Given the description of an element on the screen output the (x, y) to click on. 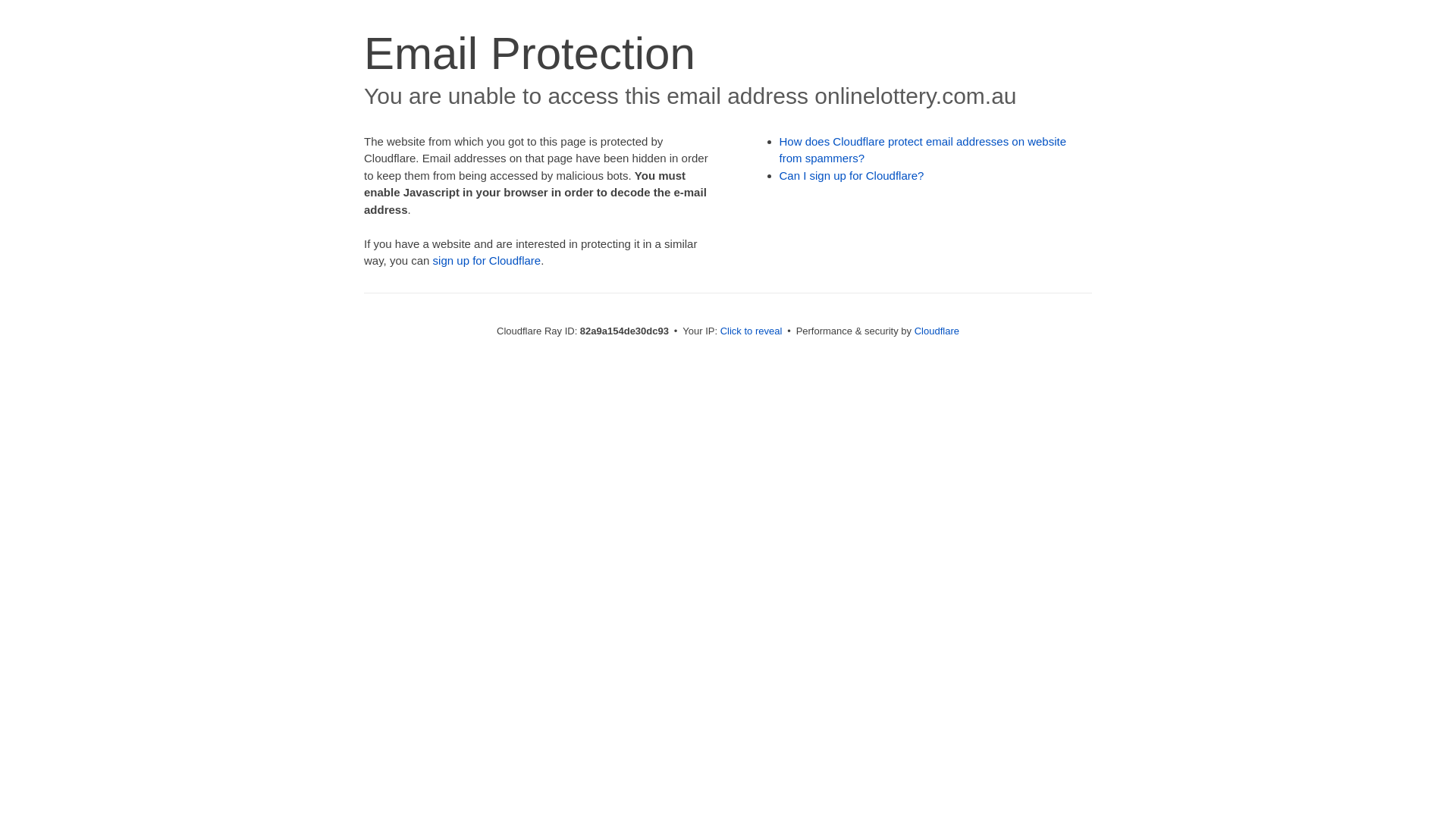
Can I sign up for Cloudflare? Element type: text (851, 175)
Cloudflare Element type: text (936, 330)
Click to reveal Element type: text (751, 330)
sign up for Cloudflare Element type: text (487, 260)
